Given the description of an element on the screen output the (x, y) to click on. 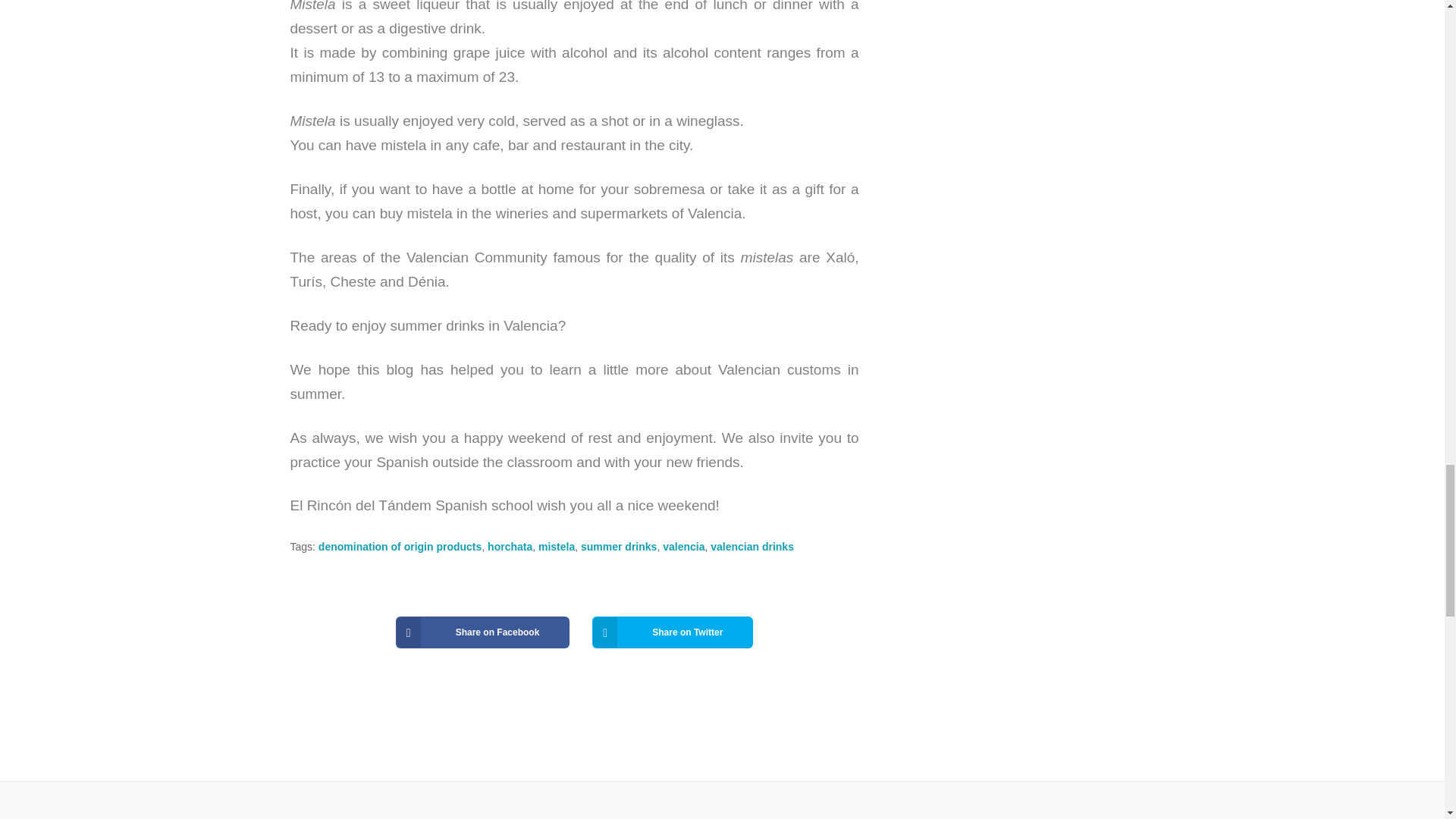
summer drinks (618, 546)
mistela (556, 546)
horchata (509, 546)
valencia (683, 546)
denomination of origin products (399, 546)
